Given the description of an element on the screen output the (x, y) to click on. 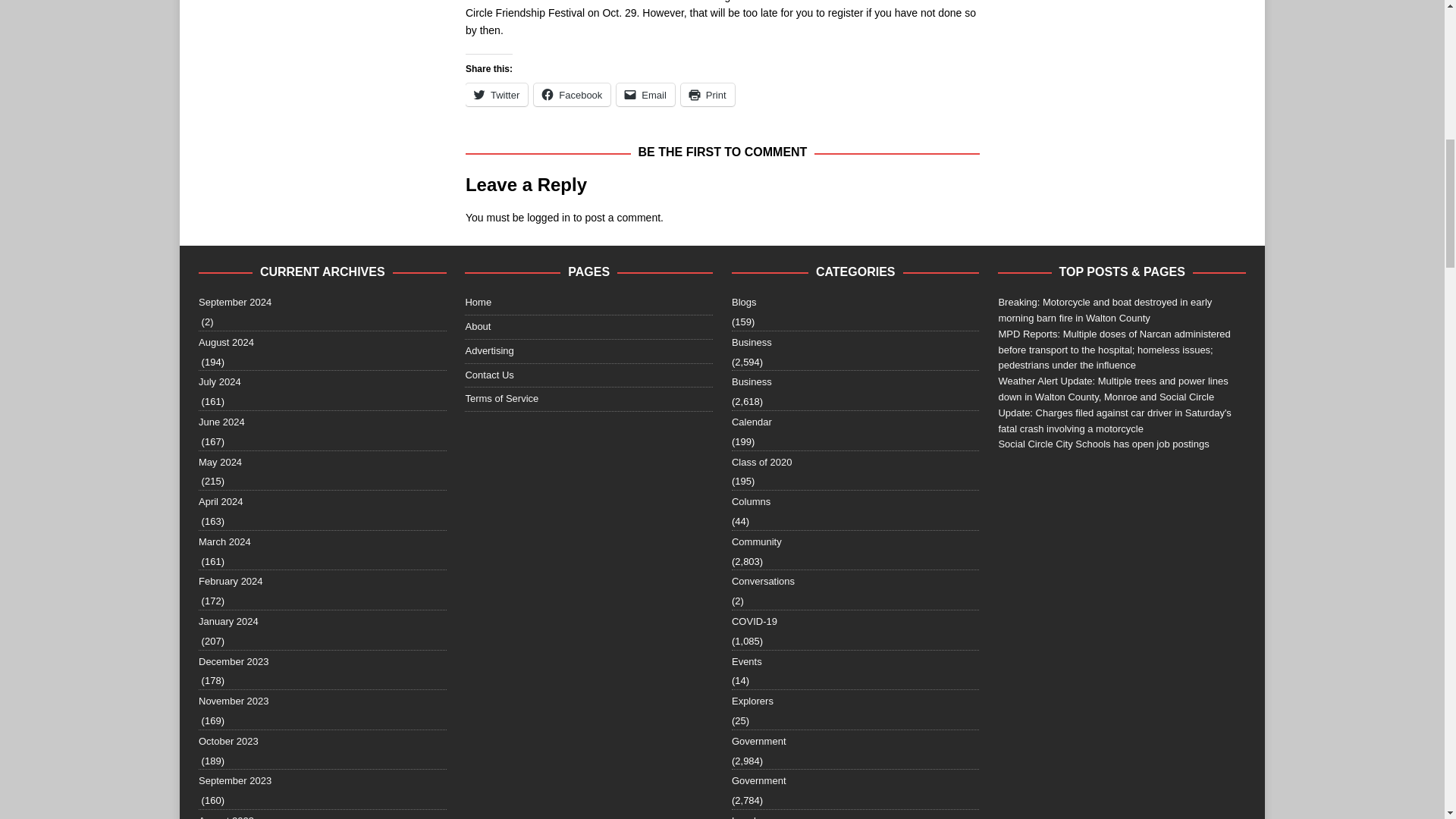
Click to email a link to a friend (645, 94)
Click to share on Facebook (572, 94)
Click to share on Twitter (496, 94)
Click to print (708, 94)
